Given the description of an element on the screen output the (x, y) to click on. 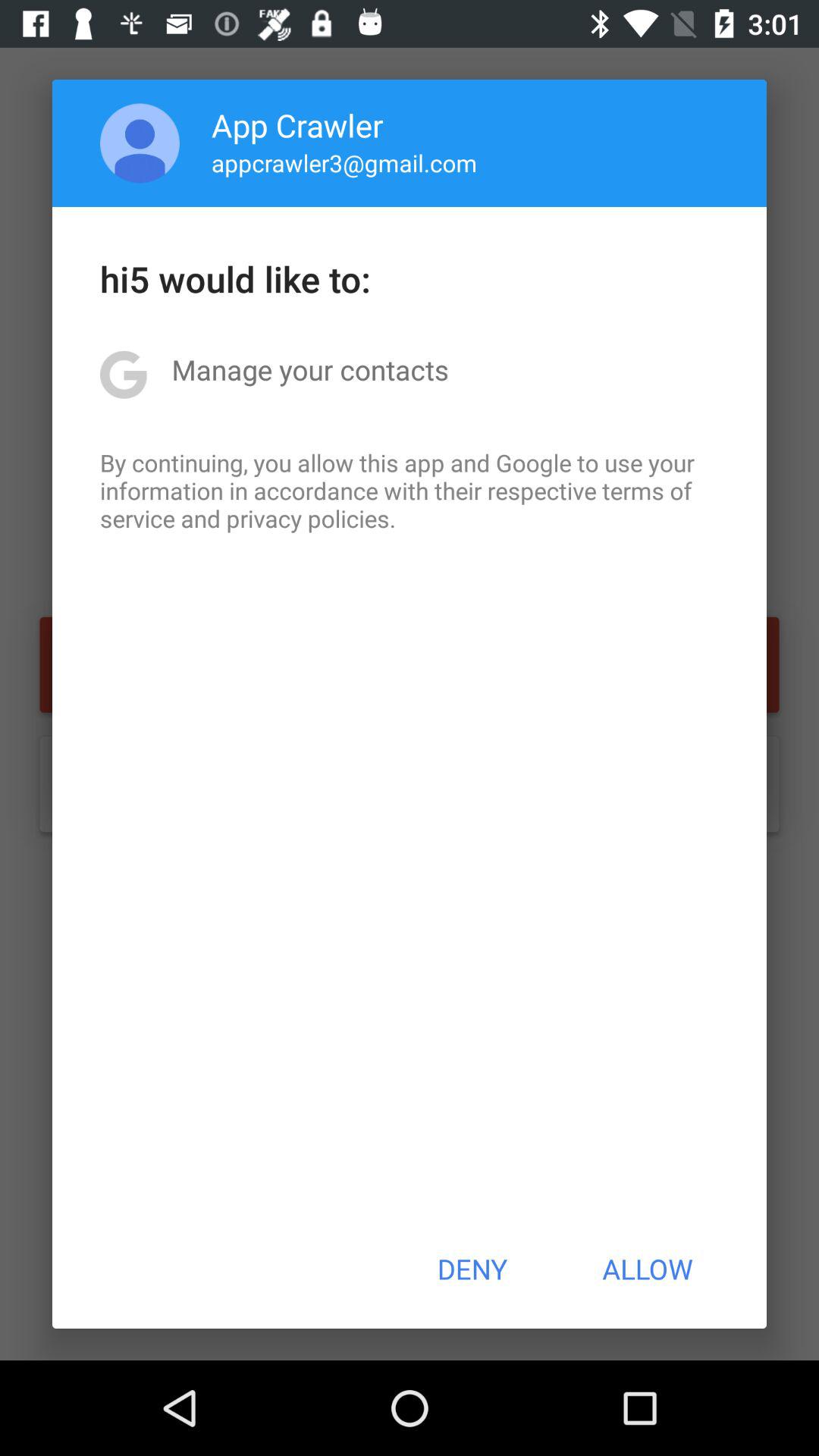
turn off item to the left of the app crawler (139, 143)
